Given the description of an element on the screen output the (x, y) to click on. 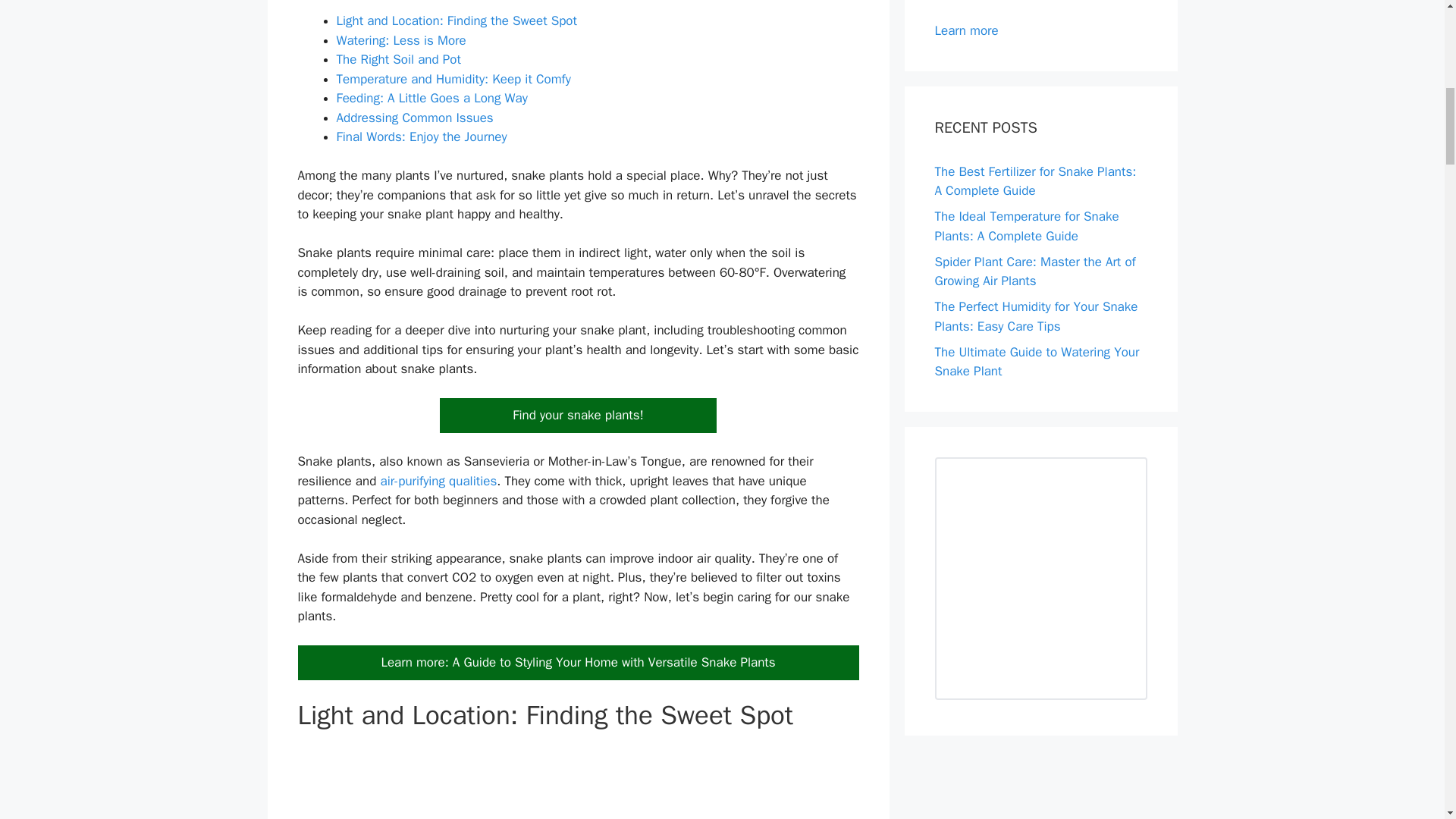
Temperature and Humidity: Keep it Comfy (453, 78)
Addressing Common Issues (414, 117)
The Right Soil and Pot (398, 59)
Learn more (965, 30)
air-purifying qualities (438, 480)
Light and Location: Finding the Sweet Spot (456, 20)
The Best Fertilizer for Snake Plants: A Complete Guide (1034, 181)
Scroll back to top (1406, 720)
Feeding: A Little Goes a Long Way (431, 98)
